Given the description of an element on the screen output the (x, y) to click on. 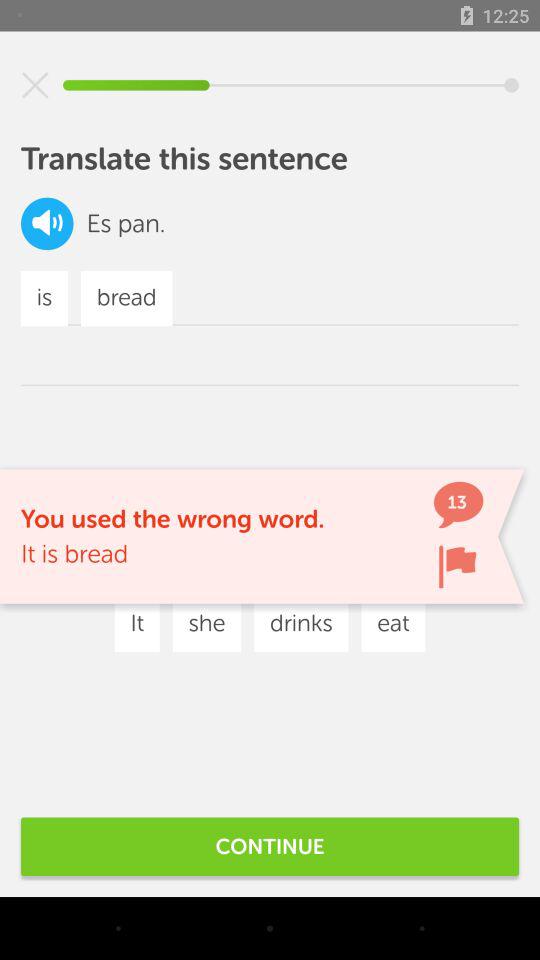
click the item next to it item (206, 624)
